Given the description of an element on the screen output the (x, y) to click on. 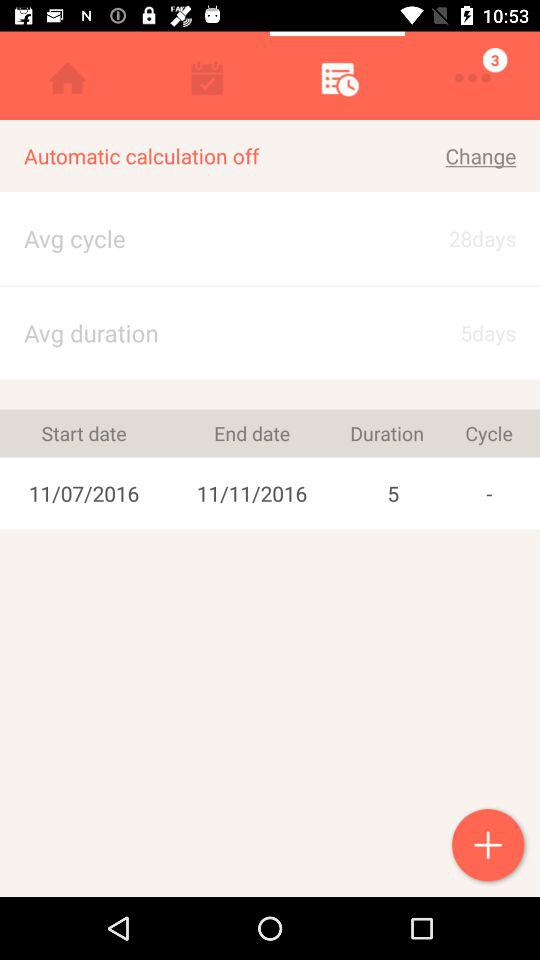
this button adding option (490, 847)
